Given the description of an element on the screen output the (x, y) to click on. 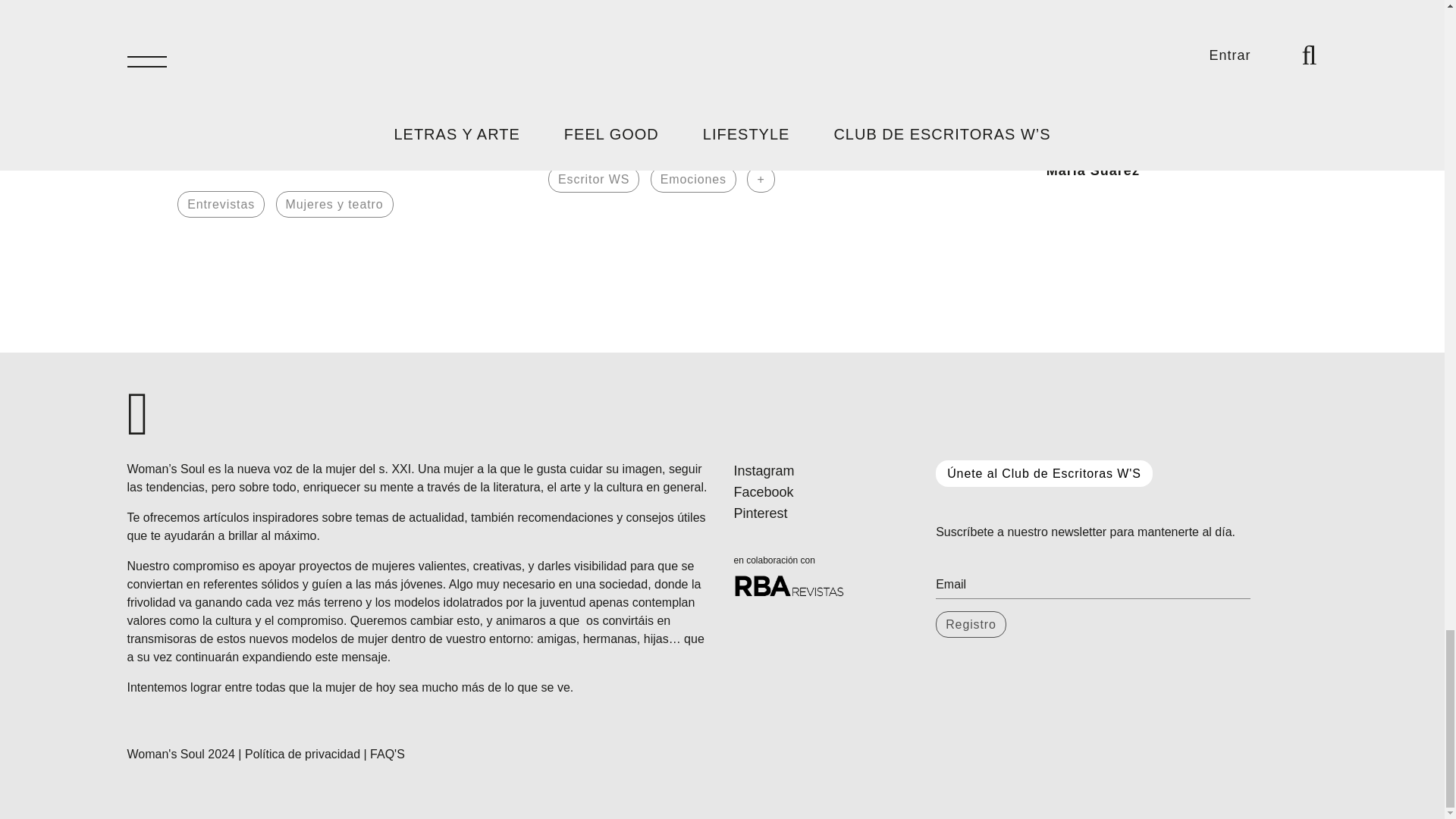
Entrevistas (220, 203)
Registro (971, 624)
